Given the description of an element on the screen output the (x, y) to click on. 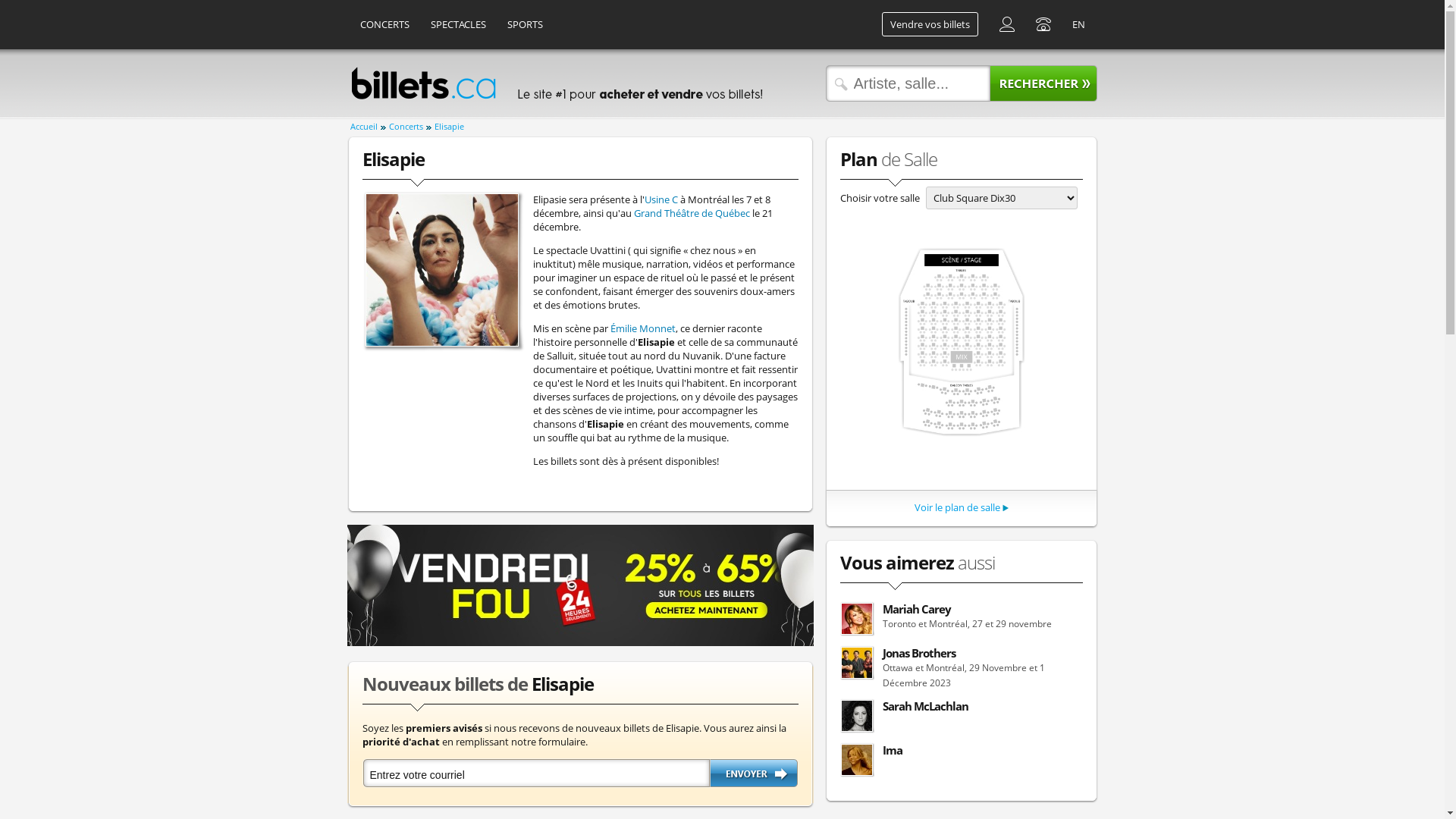
Accueil Element type: text (367, 127)
Le site #1 pour acheter et vendre vos billets! Element type: hover (638, 83)
Voir le plan de salle Element type: text (957, 507)
Billet Mariah Carey Element type: hover (856, 618)
Billet Ima Element type: hover (856, 759)
CONCERTS Element type: text (384, 24)
EN Element type: text (1077, 24)
Vendre vos billets Element type: text (929, 24)
Billets.ca - Accueil Element type: hover (422, 83)
Vendre vos billets Element type: text (930, 24)
Club Square Dix30 Element type: hover (961, 341)
Usine C Element type: text (660, 199)
Sarah McLachlan Element type: text (961, 716)
SPORTS Element type: text (524, 24)
Concerts Element type: text (409, 127)
Billet Elisapie Element type: hover (441, 269)
Ima Element type: text (961, 760)
SPECTACLES Element type: text (457, 24)
Billet Sarah McLachlan Element type: hover (856, 715)
Billet Jonas Brothers Element type: hover (856, 662)
